Given the description of an element on the screen output the (x, y) to click on. 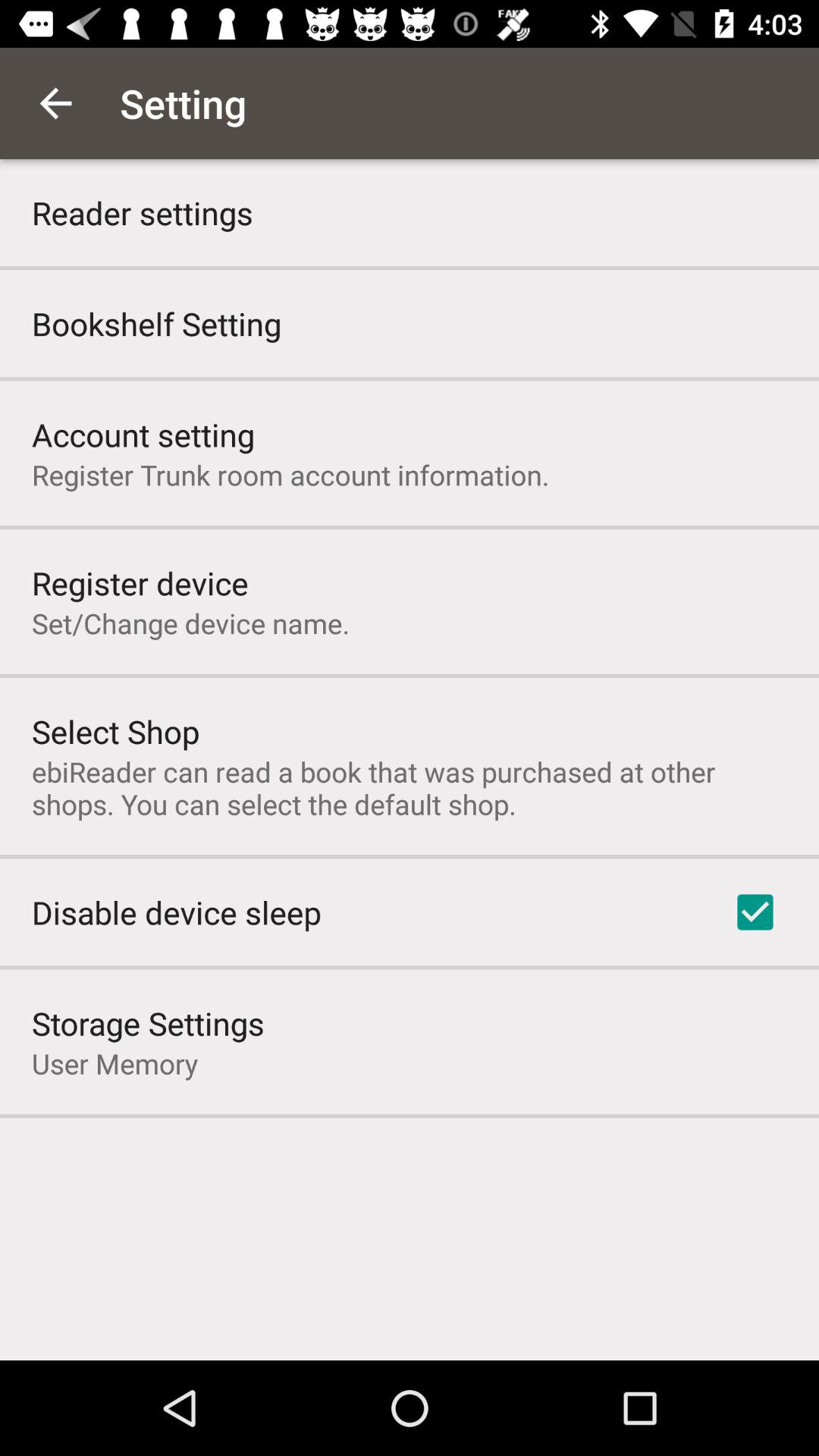
turn on icon below the bookshelf setting icon (142, 434)
